Given the description of an element on the screen output the (x, y) to click on. 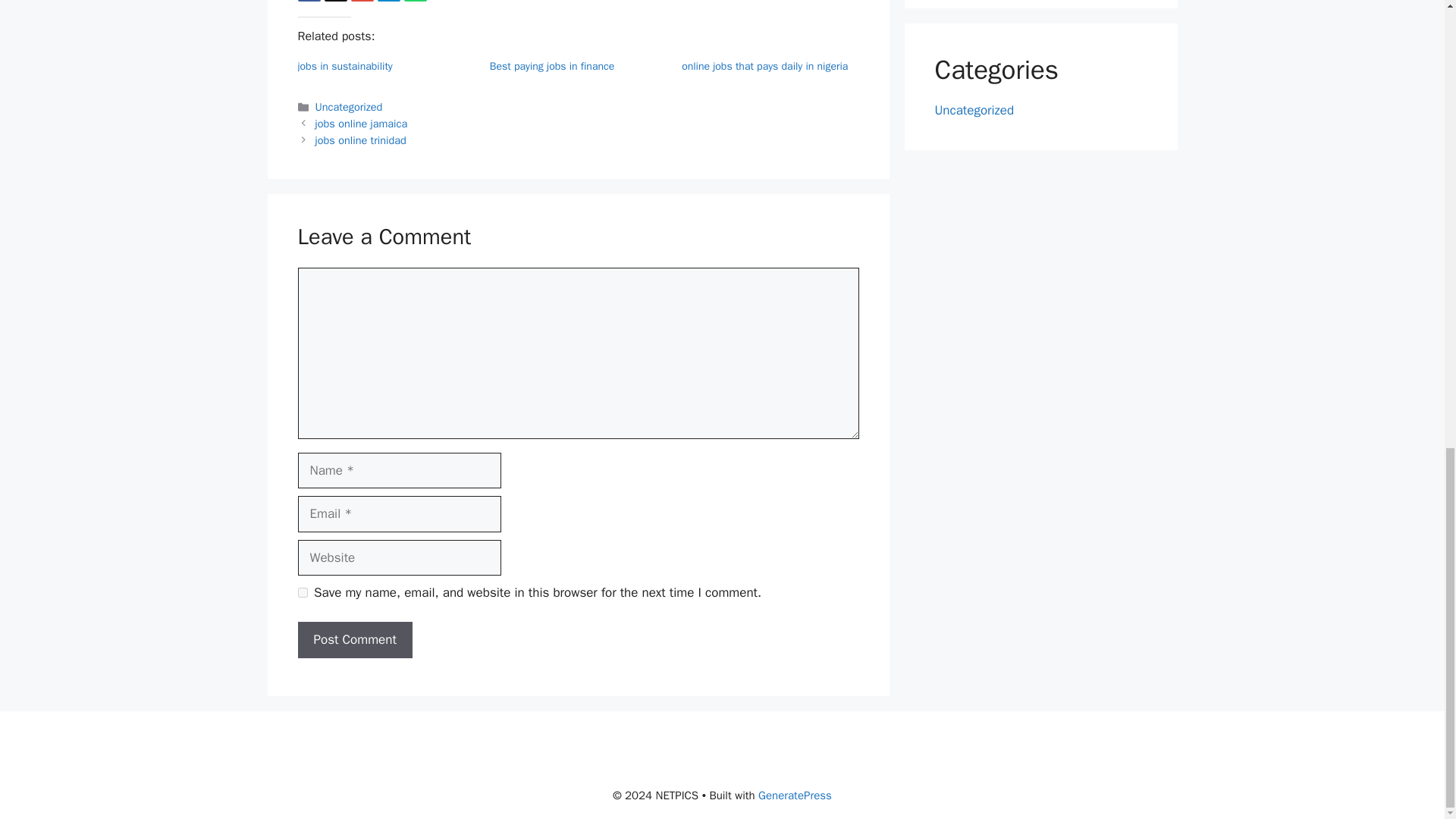
Telegram Share (388, 0)
jobs online jamaica (361, 123)
Post Comment (354, 639)
online jobs that pays daily in nigeria (764, 65)
Tweet this (335, 0)
Share this (308, 0)
Permalink to: online jobs that pays daily in nigeria (764, 65)
Best paying jobs in finance (551, 65)
Uncategorized (348, 106)
GeneratePress (794, 795)
Pin this (361, 0)
jobs in sustainability (344, 65)
Post Comment (354, 639)
Permalink to: Best paying jobs in finance (551, 65)
Whatsapp (414, 0)
